Given the description of an element on the screen output the (x, y) to click on. 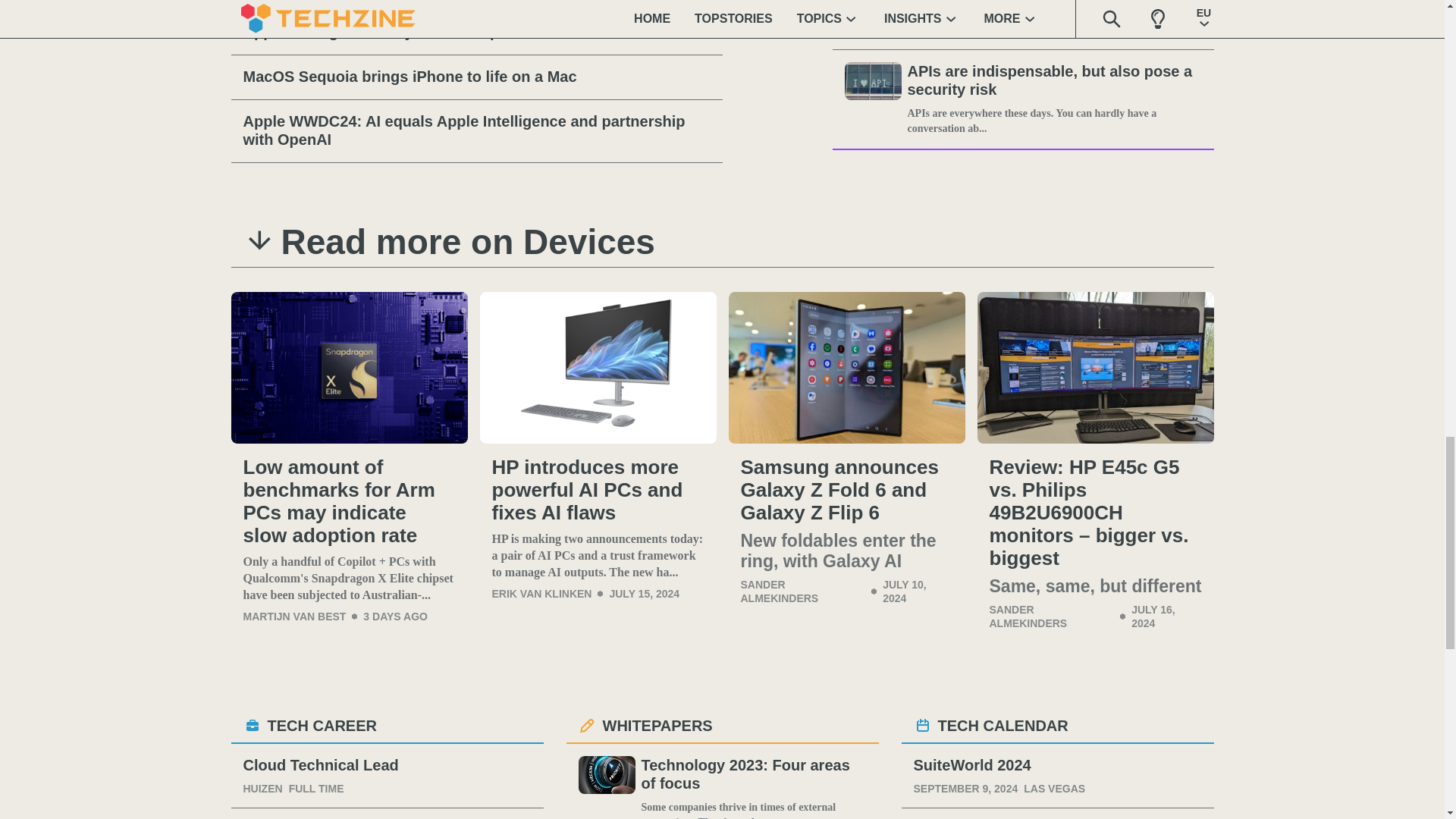
Apple Intelligence not yet for European iPhones and Macs (476, 32)
HP introduces more powerful AI PCs and fixes AI flaws (597, 367)
MacOS Sequoia brings iPhone to life on a Mac (476, 76)
APIs are indispensable, but also pose a security risk (1054, 80)
HP introduces more powerful AI PCs and fixes AI flaws (597, 489)
